Given the description of an element on the screen output the (x, y) to click on. 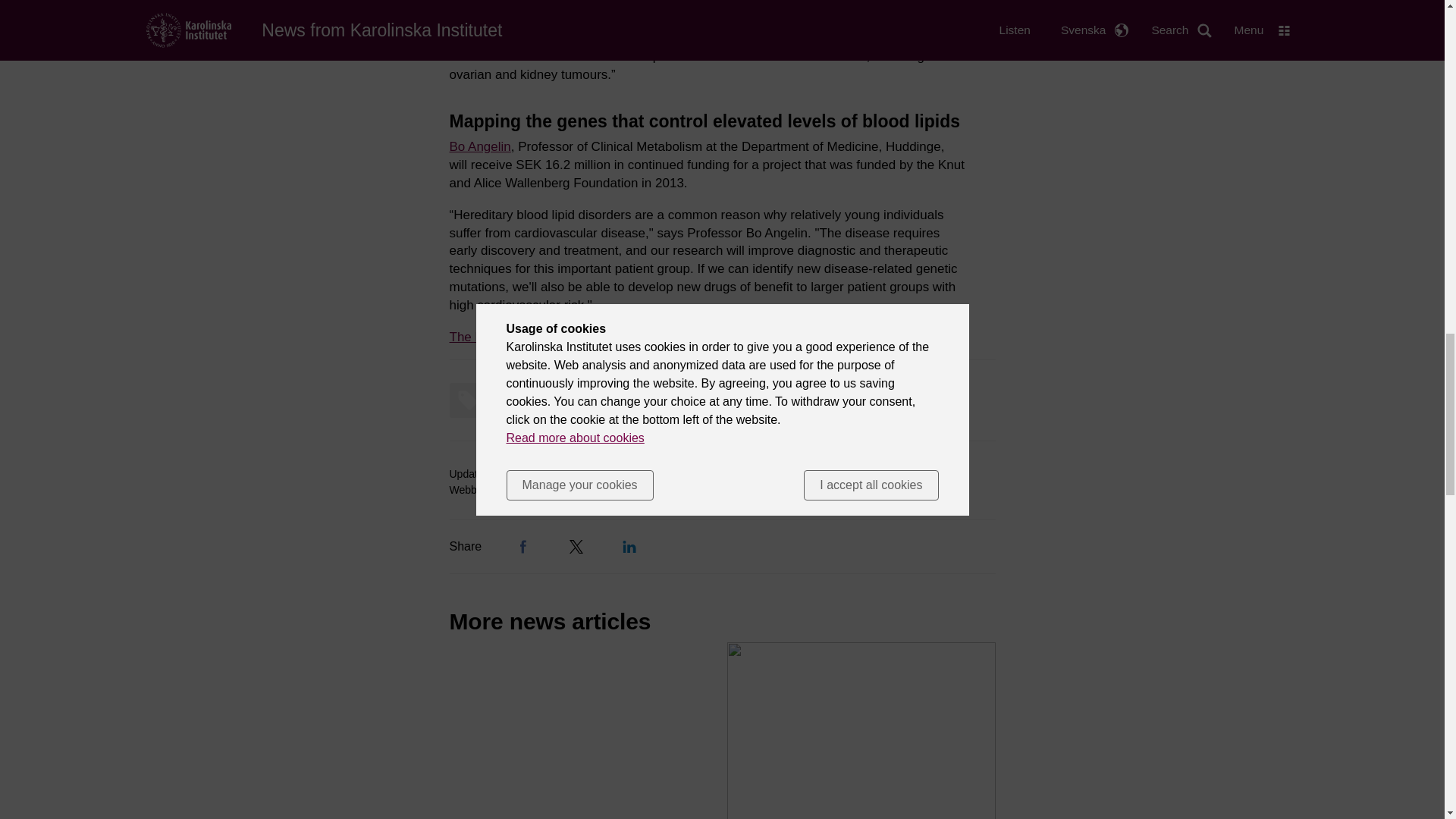
The Knut and Alice Wallenberg Foundation (578, 336)
Bo Angelin (479, 146)
Facebook (523, 546)
Twitter (576, 546)
Funding (496, 400)
LinkedIn (629, 546)
